Given the description of an element on the screen output the (x, y) to click on. 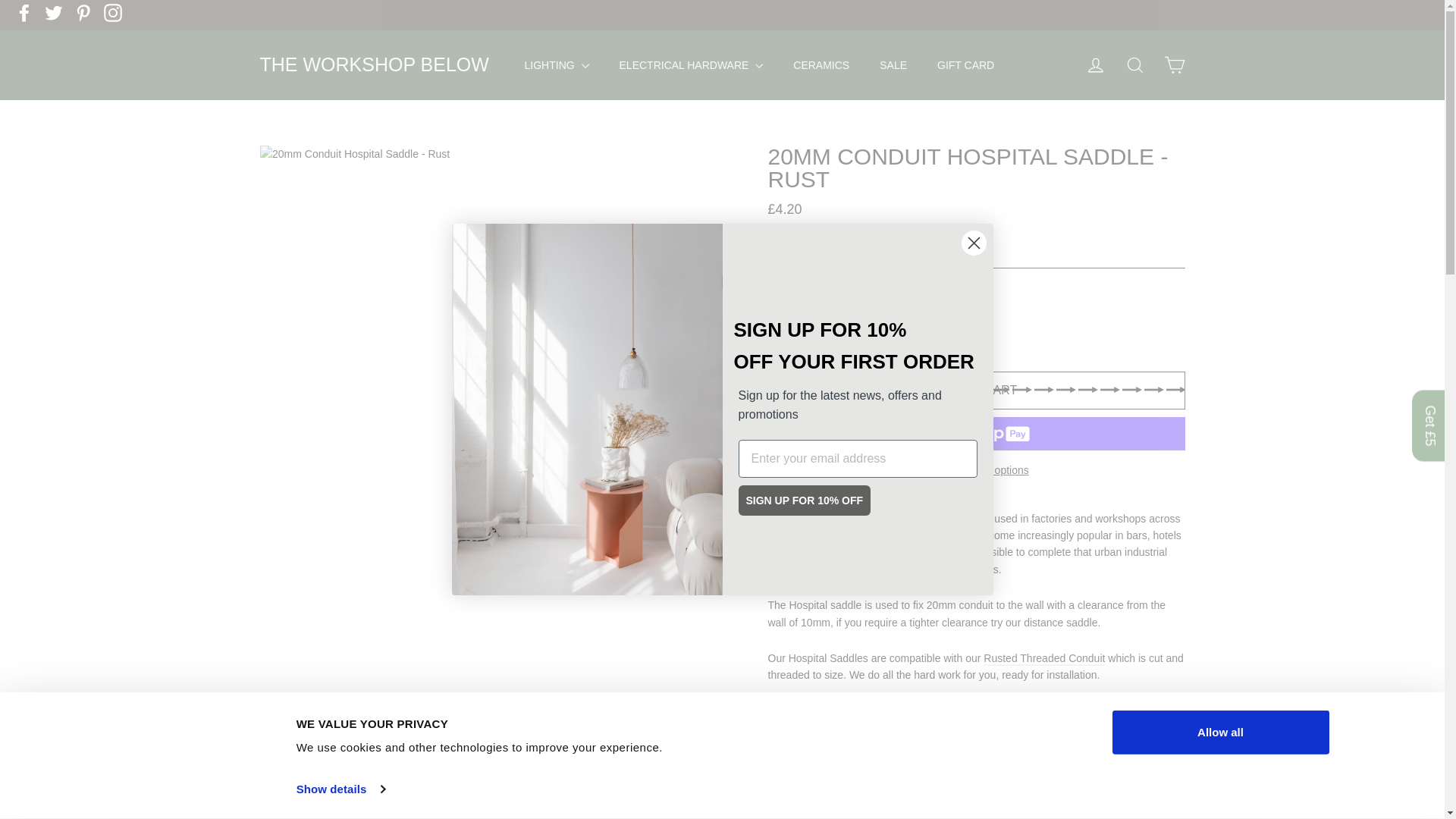
THE WORKSHOP BELOW on Pinterest (83, 13)
1 (805, 326)
THE WORKSHOP BELOW on Twitter (53, 13)
Show details (340, 789)
THE WORKSHOP BELOW on Facebook (23, 13)
